Given the description of an element on the screen output the (x, y) to click on. 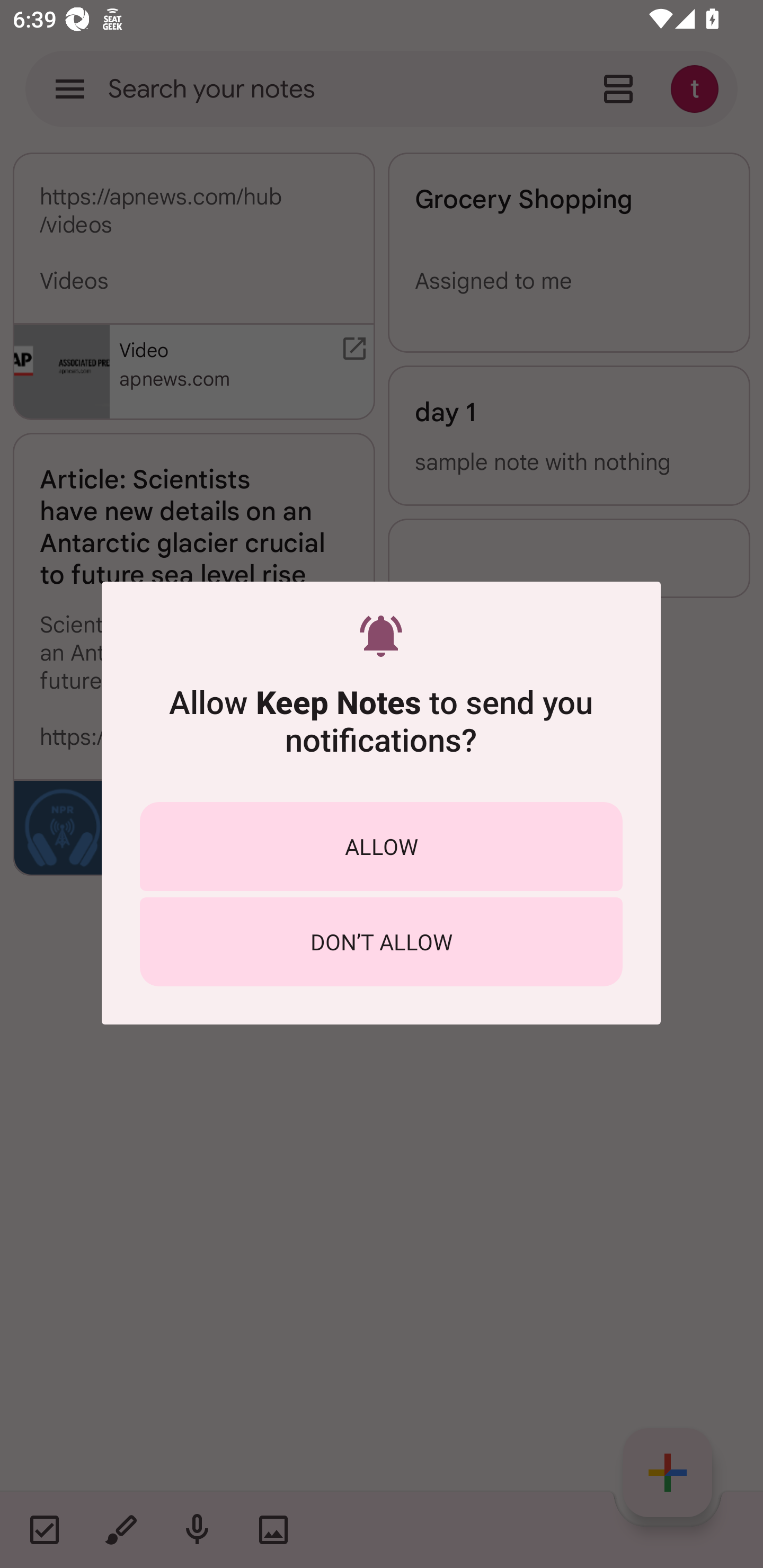
ALLOW (380, 845)
DON’T ALLOW (380, 941)
